Given the description of an element on the screen output the (x, y) to click on. 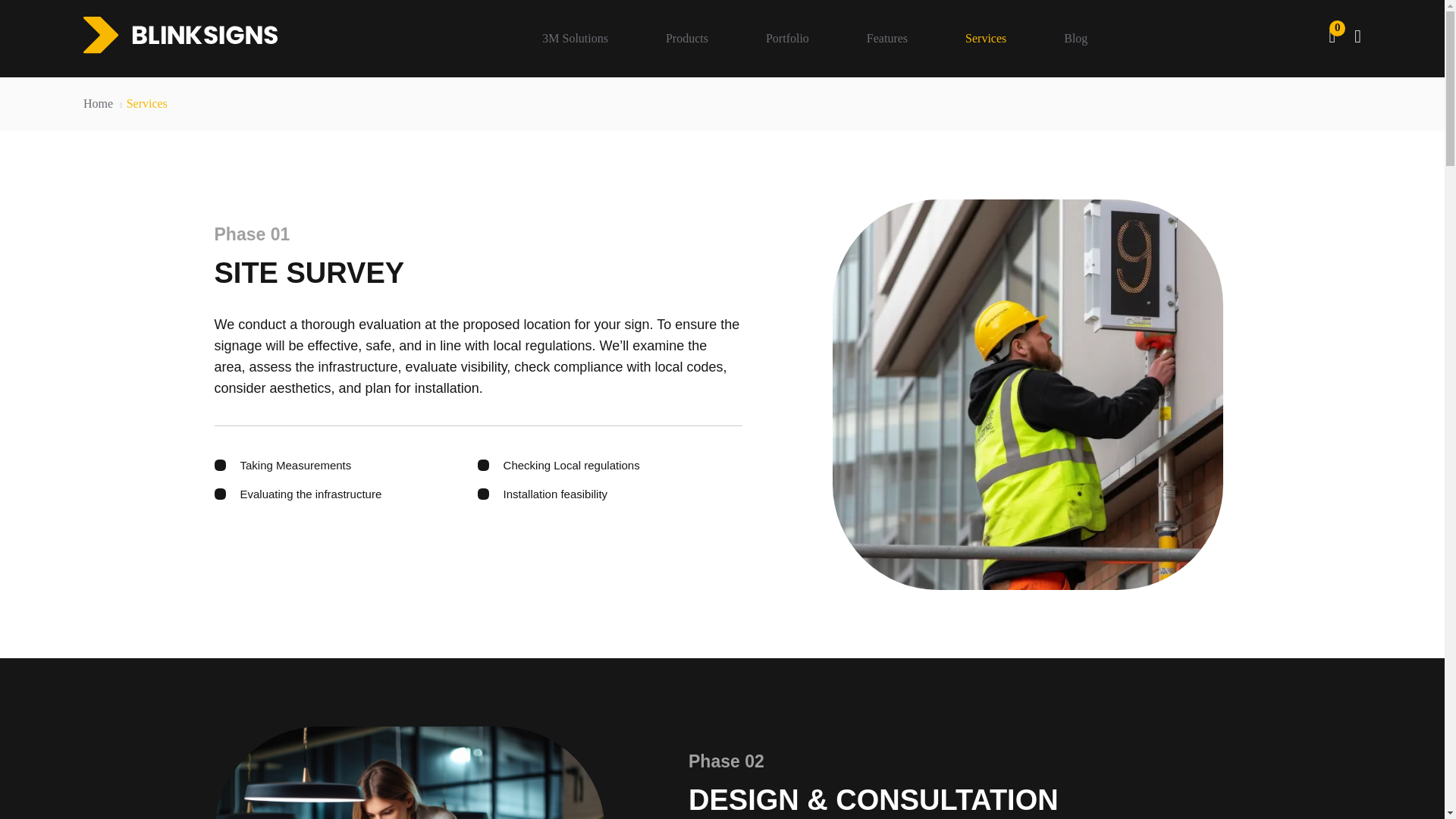
Home (97, 103)
Blog (1069, 38)
Home (97, 103)
Services (985, 38)
Features (887, 38)
3M Solutions (574, 38)
0 (1331, 37)
Portfolio (787, 38)
Products (686, 38)
